Given the description of an element on the screen output the (x, y) to click on. 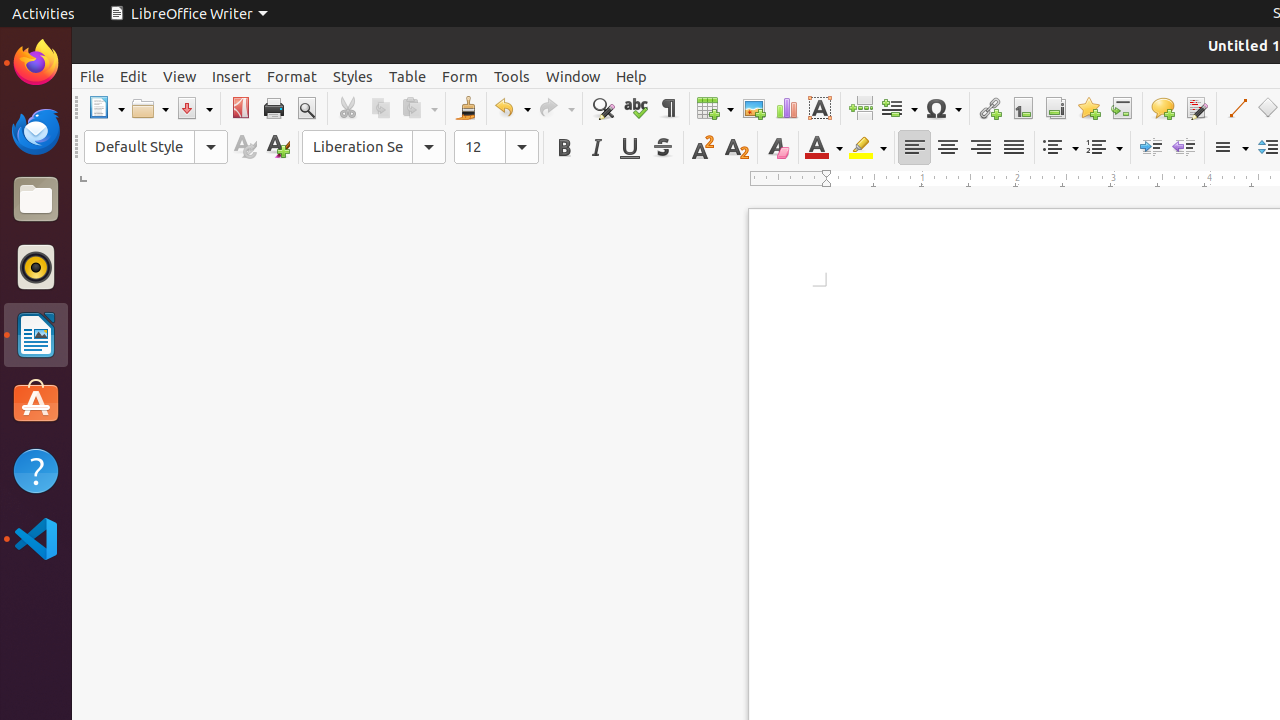
Left Element type: toggle-button (914, 147)
Open Element type: push-button (150, 108)
Spelling Element type: push-button (635, 108)
Image Element type: push-button (753, 108)
Table Element type: menu (407, 76)
